Given the description of an element on the screen output the (x, y) to click on. 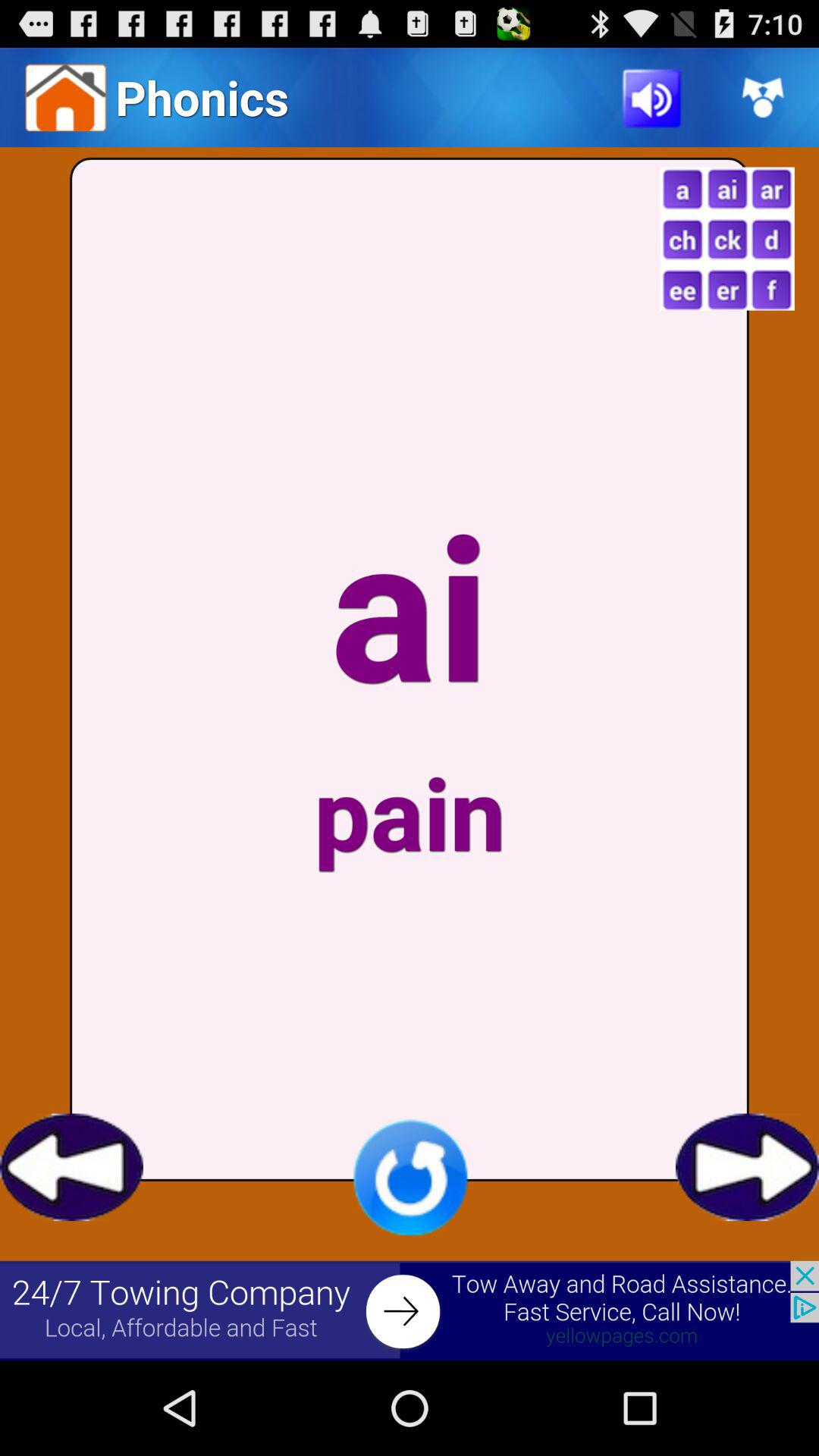
go to the next word (747, 1167)
